Given the description of an element on the screen output the (x, y) to click on. 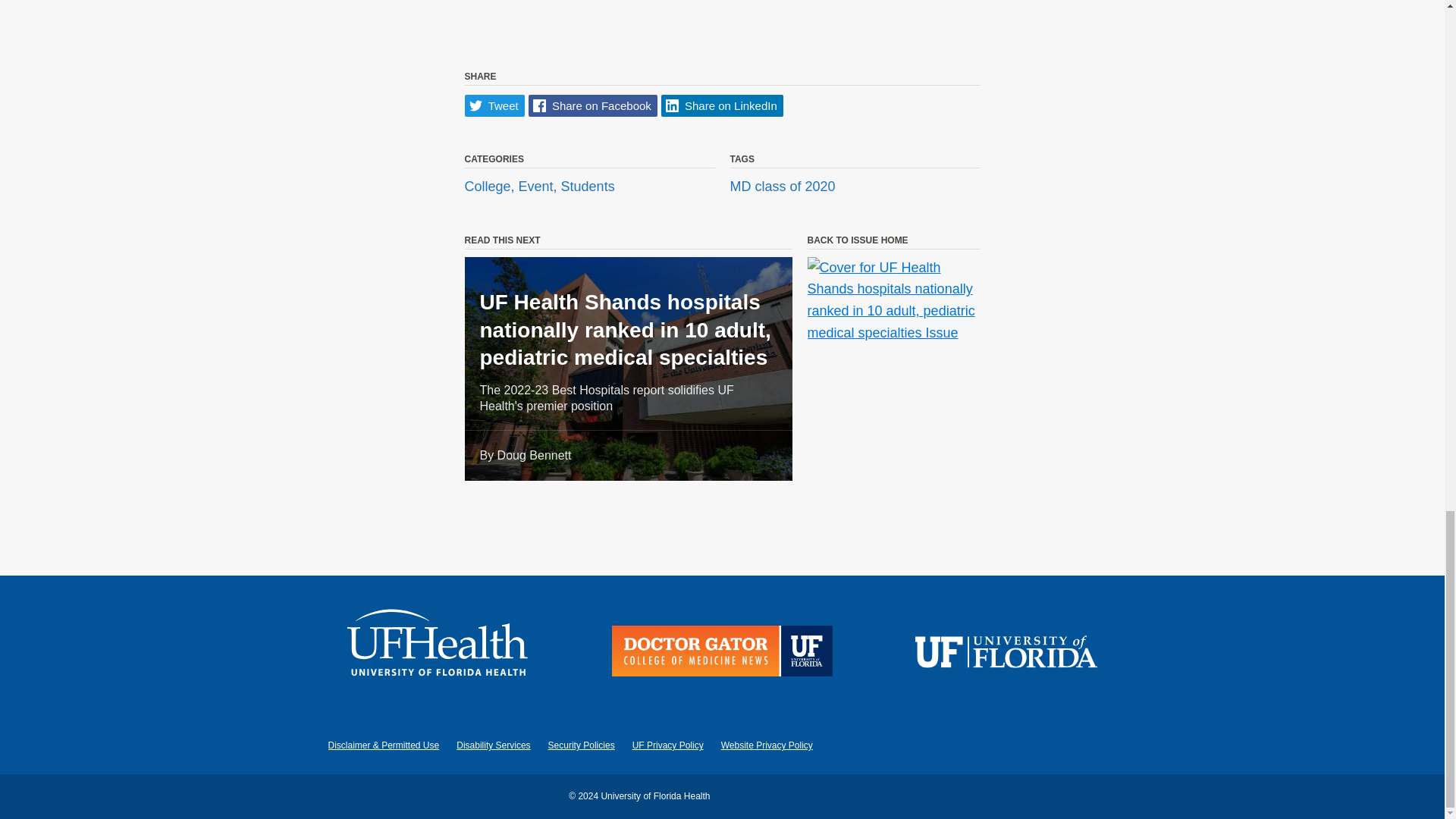
UF Health (437, 654)
MD class of 2020 (781, 186)
Tweet (494, 106)
Event, (539, 186)
University of Florida Logo (1005, 654)
Publication Logo (721, 654)
UF Privacy Policy (667, 745)
Website Privacy Policy (766, 745)
UF Health Logo (437, 654)
Students (587, 186)
University of Florida (1005, 654)
College, (491, 186)
Share on Facebook (593, 106)
Security Policies (581, 745)
